Given the description of an element on the screen output the (x, y) to click on. 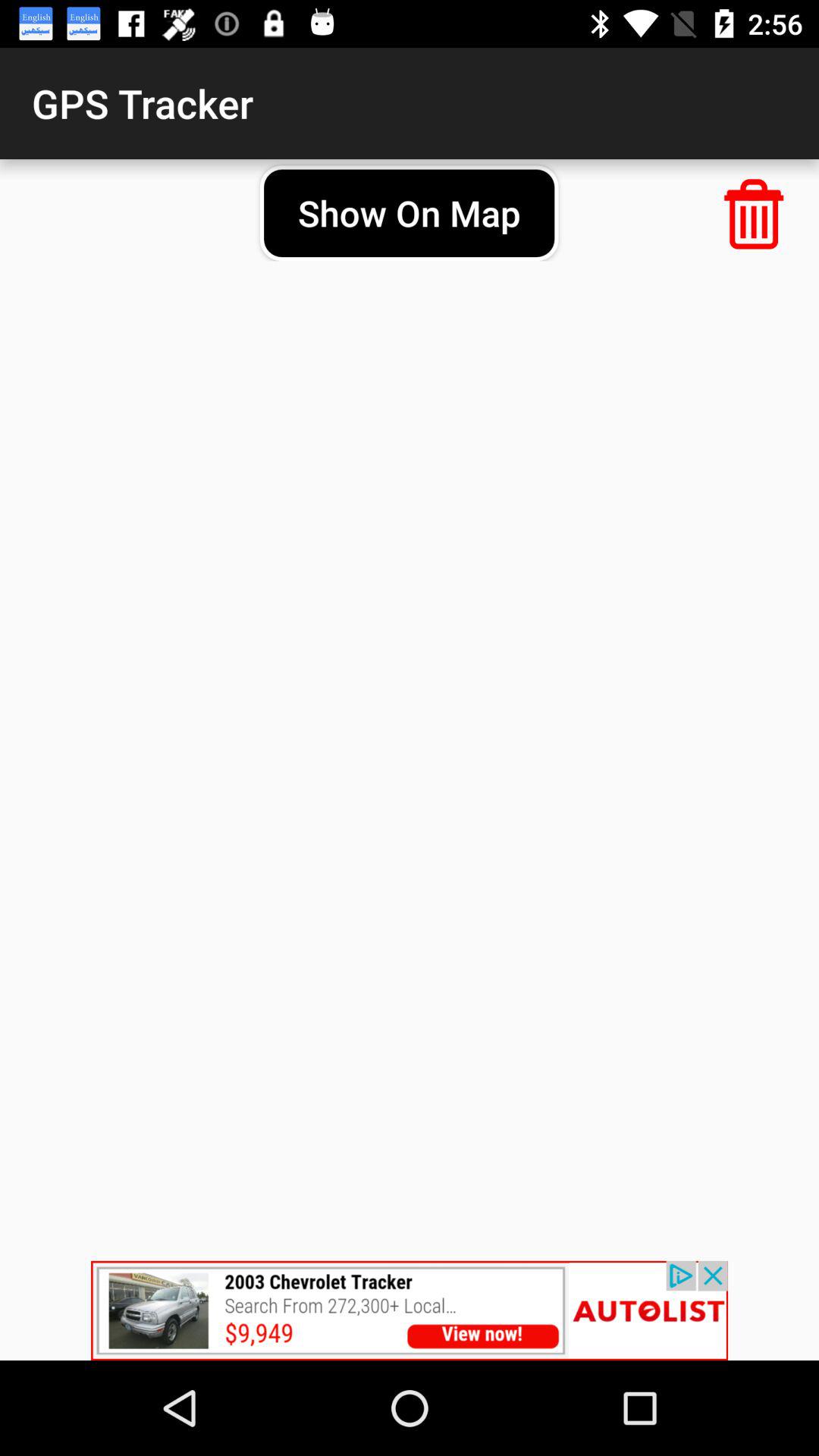
delete tracker (753, 214)
